Given the description of an element on the screen output the (x, y) to click on. 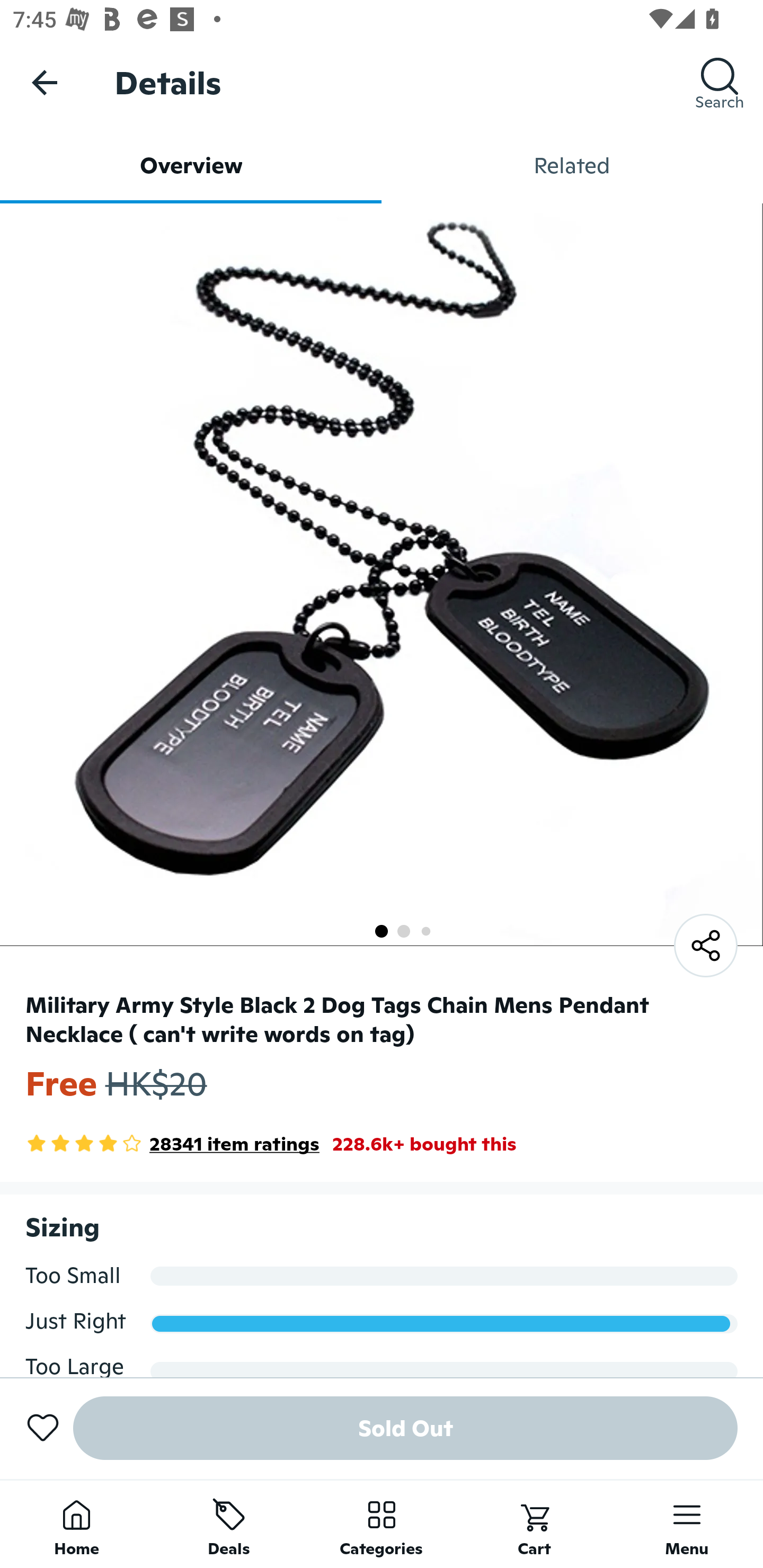
Navigate up (44, 82)
Search (719, 82)
Related (572, 165)
4.1 Star Rating 28341 item ratings (172, 1143)
Sold Out (405, 1428)
Home (76, 1523)
Deals (228, 1523)
Categories (381, 1523)
Cart (533, 1523)
Menu (686, 1523)
